Given the description of an element on the screen output the (x, y) to click on. 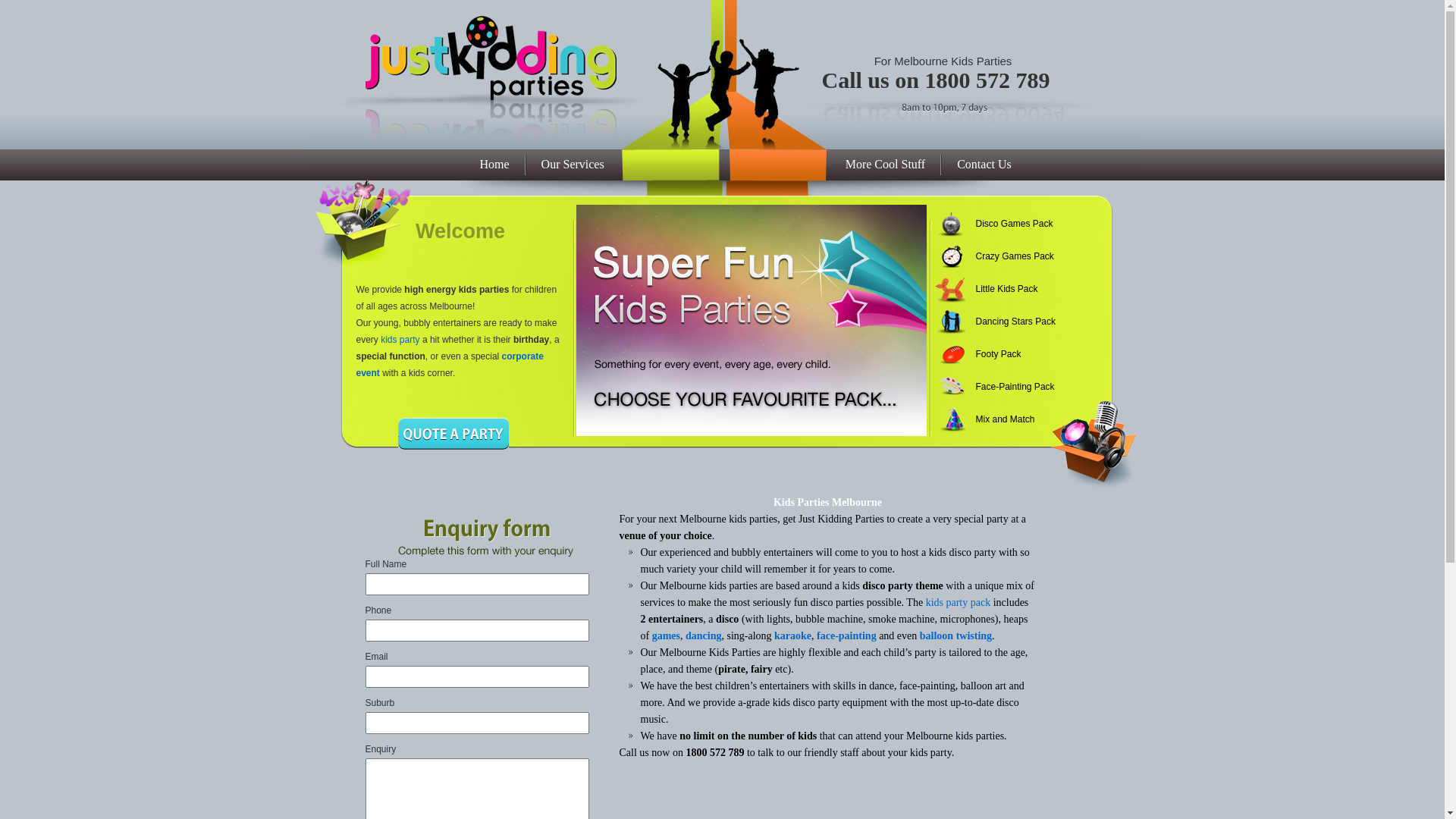
Contact Us Element type: text (983, 164)
Face-Painting Pack Element type: text (1007, 386)
More Cool Stuff Element type: text (885, 164)
Footy Pack Element type: text (1007, 354)
kids party Element type: text (399, 339)
Home Element type: text (494, 164)
corporate event Element type: text (449, 364)
Our Services Element type: text (572, 164)
dancing Element type: text (703, 635)
Crazy Games Pack Element type: text (1007, 256)
Disco Games Pack Element type: text (1007, 223)
balloon twisting Element type: text (955, 635)
Dancing Stars Pack Element type: text (1007, 321)
kids party pack Element type: text (958, 602)
karaoke Element type: text (792, 635)
Little Kids Pack Element type: text (1007, 289)
face-painting Element type: text (846, 635)
games Element type: text (666, 635)
Mix and Match Element type: text (1007, 419)
